Given the description of an element on the screen output the (x, y) to click on. 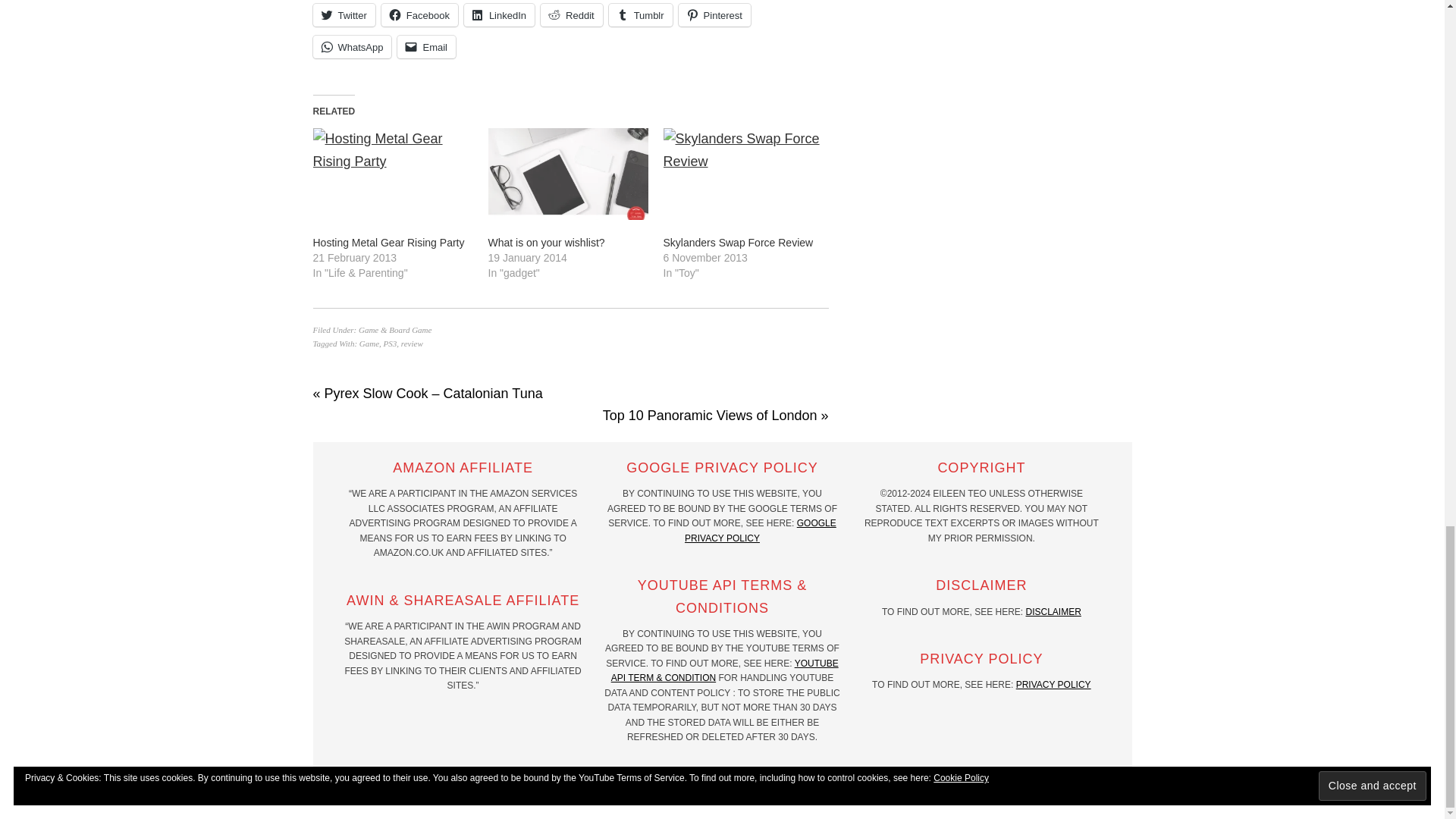
Skylanders Swap Force Review (742, 173)
Click to share on Facebook (419, 15)
Click to share on Twitter (343, 15)
Click to share on LinkedIn (499, 15)
What is on your wishlist? (546, 242)
Click to email a link to a friend (426, 47)
Click to share on Reddit (571, 15)
What is on your wishlist? (567, 173)
Hosting Metal Gear Rising Party (392, 173)
Click to share on Pinterest (714, 15)
